Given the description of an element on the screen output the (x, y) to click on. 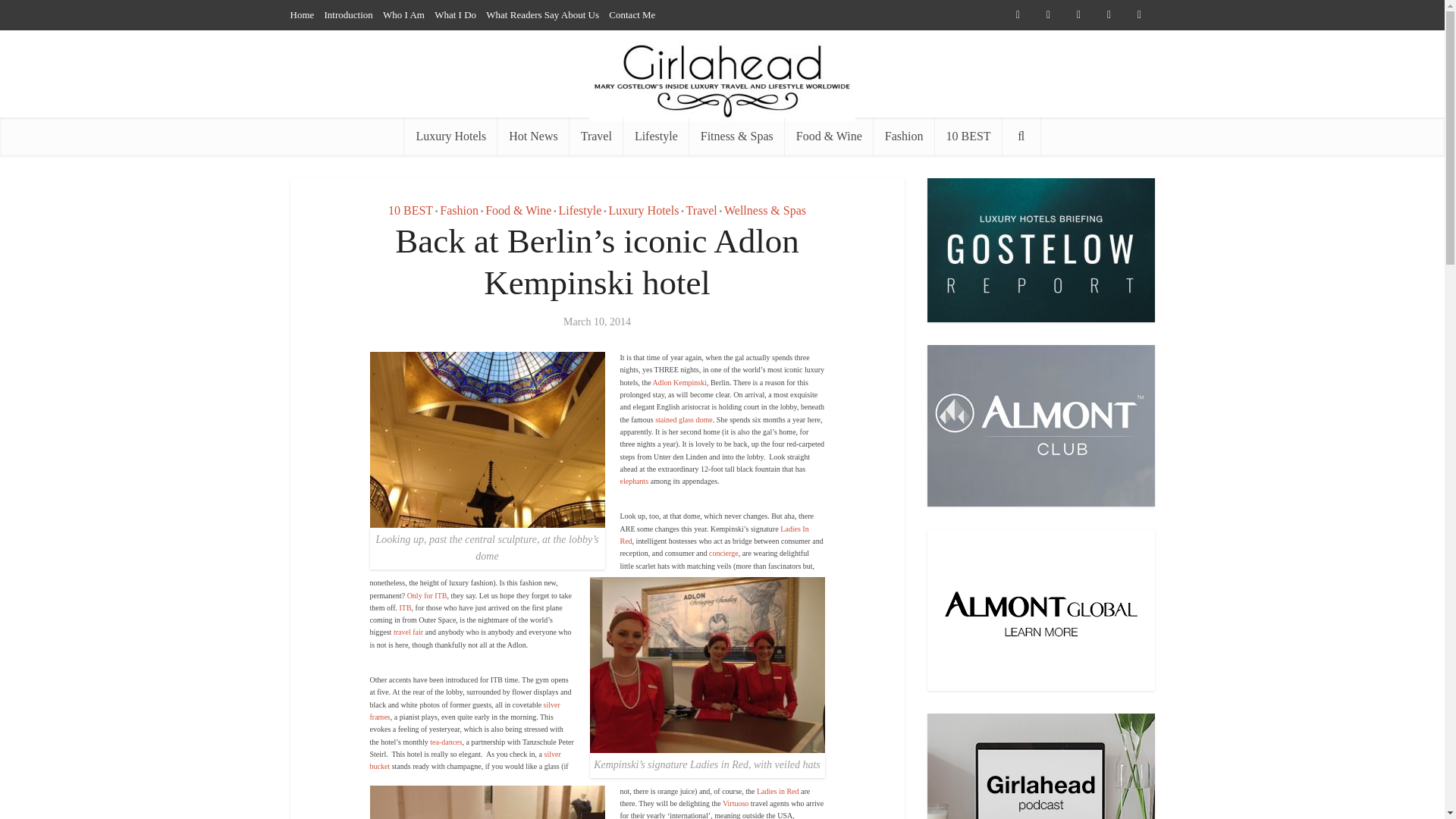
10 BEST (967, 136)
Tulips at a unique luxury hotel by the Bosphorus (714, 534)
Fashion (459, 210)
A luxury Ritz hotel inspired by a king (723, 552)
Contact Me (631, 14)
Who I Am (403, 14)
The luxury travel world must be in Cannes every December (735, 803)
Lifestyle (579, 210)
A stay that is pure gold at the luxury Hotel Adlon Kempinski (679, 382)
Hot News (533, 136)
Luxury beer-and-sausage in Beijing (778, 791)
The beautiful new luxury hotel in Berlin (404, 607)
What Readers Say About Us (542, 14)
Luxury Hotels (450, 136)
Introduction (348, 14)
